Given the description of an element on the screen output the (x, y) to click on. 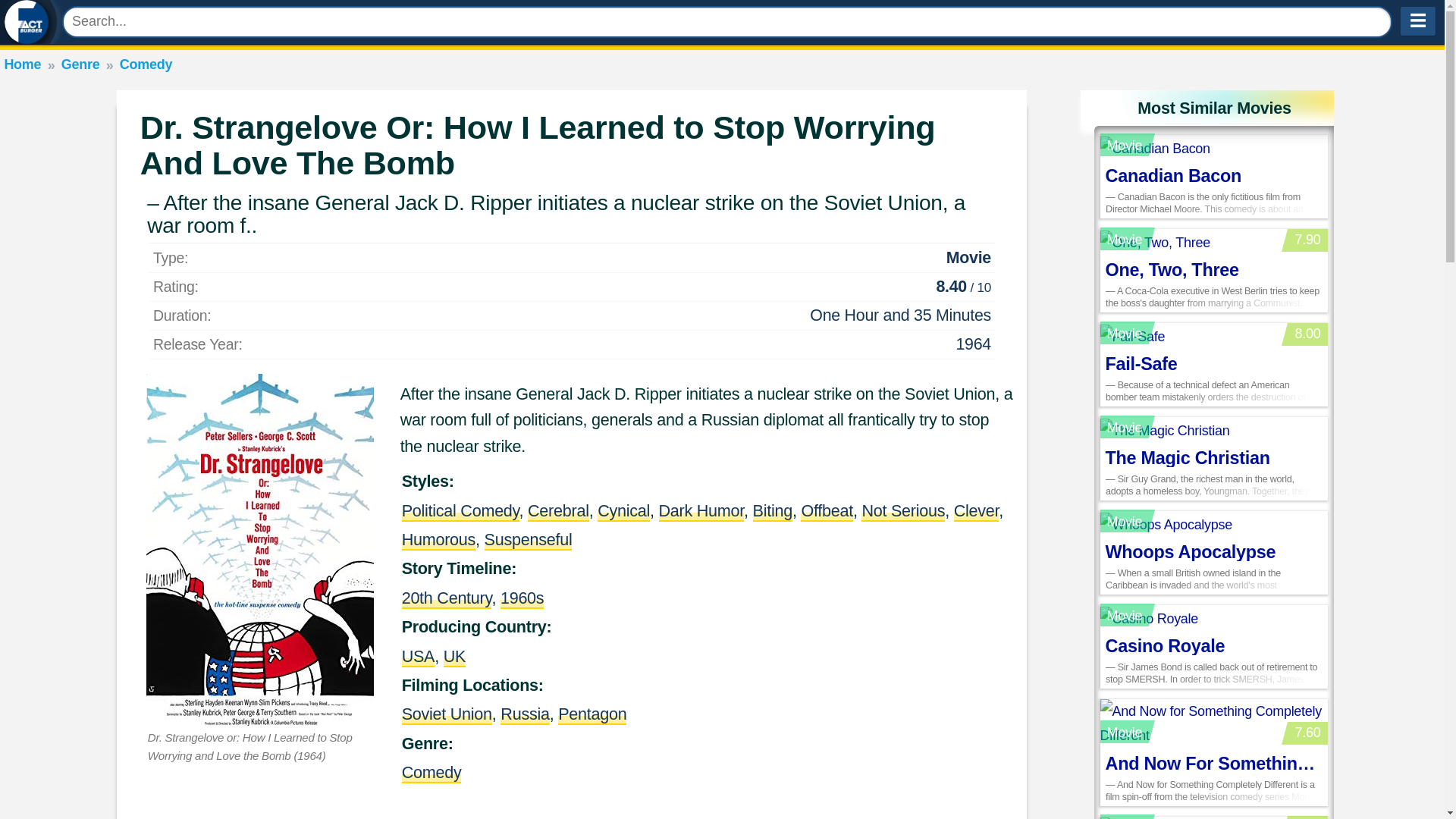
1960s (522, 597)
Political Comedy (460, 510)
Biting (772, 510)
Home (22, 63)
Cynical (622, 510)
Dark Humor (701, 510)
Not Serious (902, 510)
Cerebral (558, 510)
Humorous (438, 538)
20th Century (446, 597)
Genre (79, 63)
Clever (975, 510)
Offbeat (826, 510)
Comedy (145, 63)
Suspenseful (528, 538)
